Given the description of an element on the screen output the (x, y) to click on. 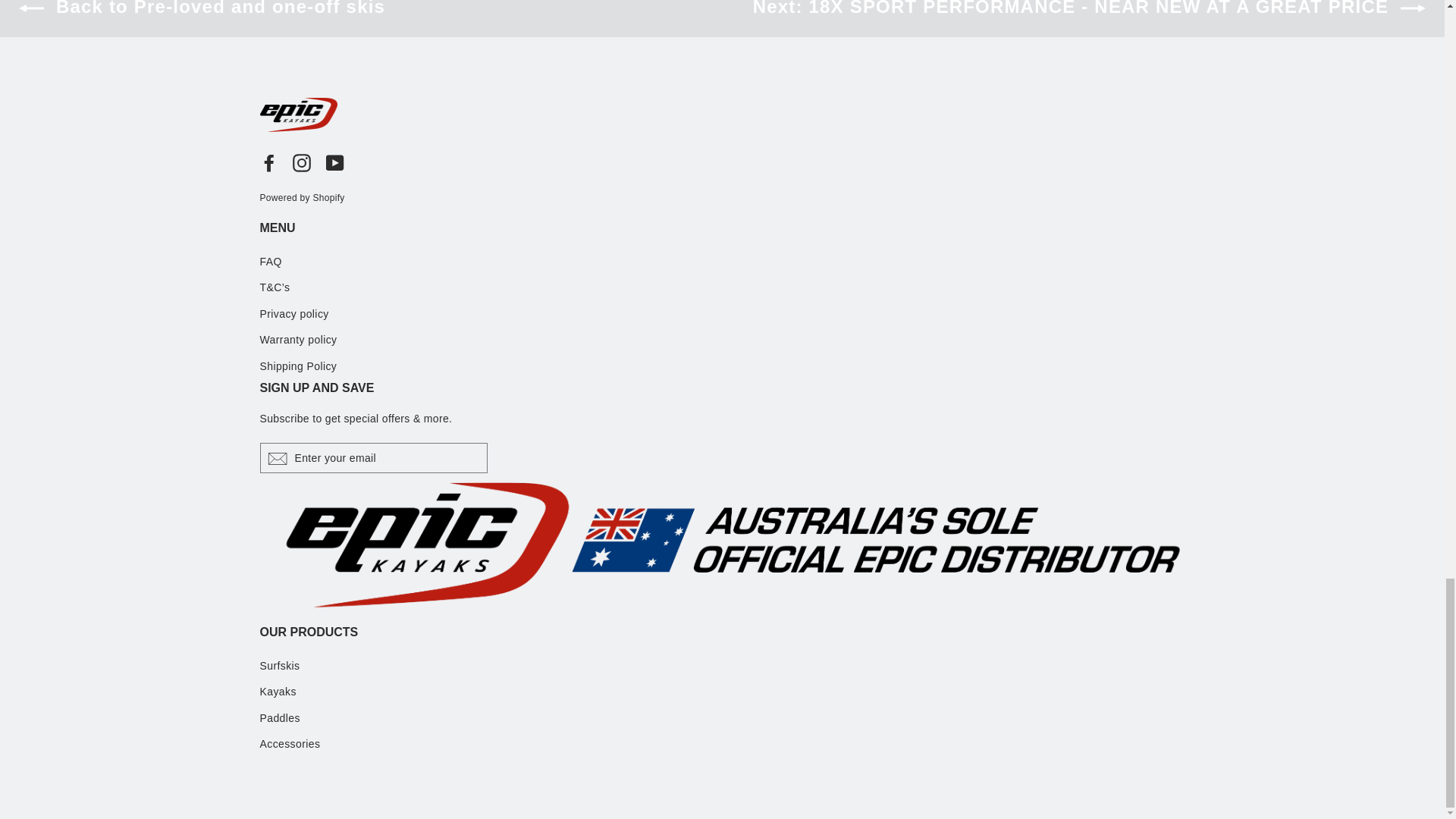
Epic Kayaks Australia on Instagram (301, 161)
Epic Kayaks Australia on YouTube (334, 161)
Epic Kayaks Australia on Facebook (268, 161)
